Given the description of an element on the screen output the (x, y) to click on. 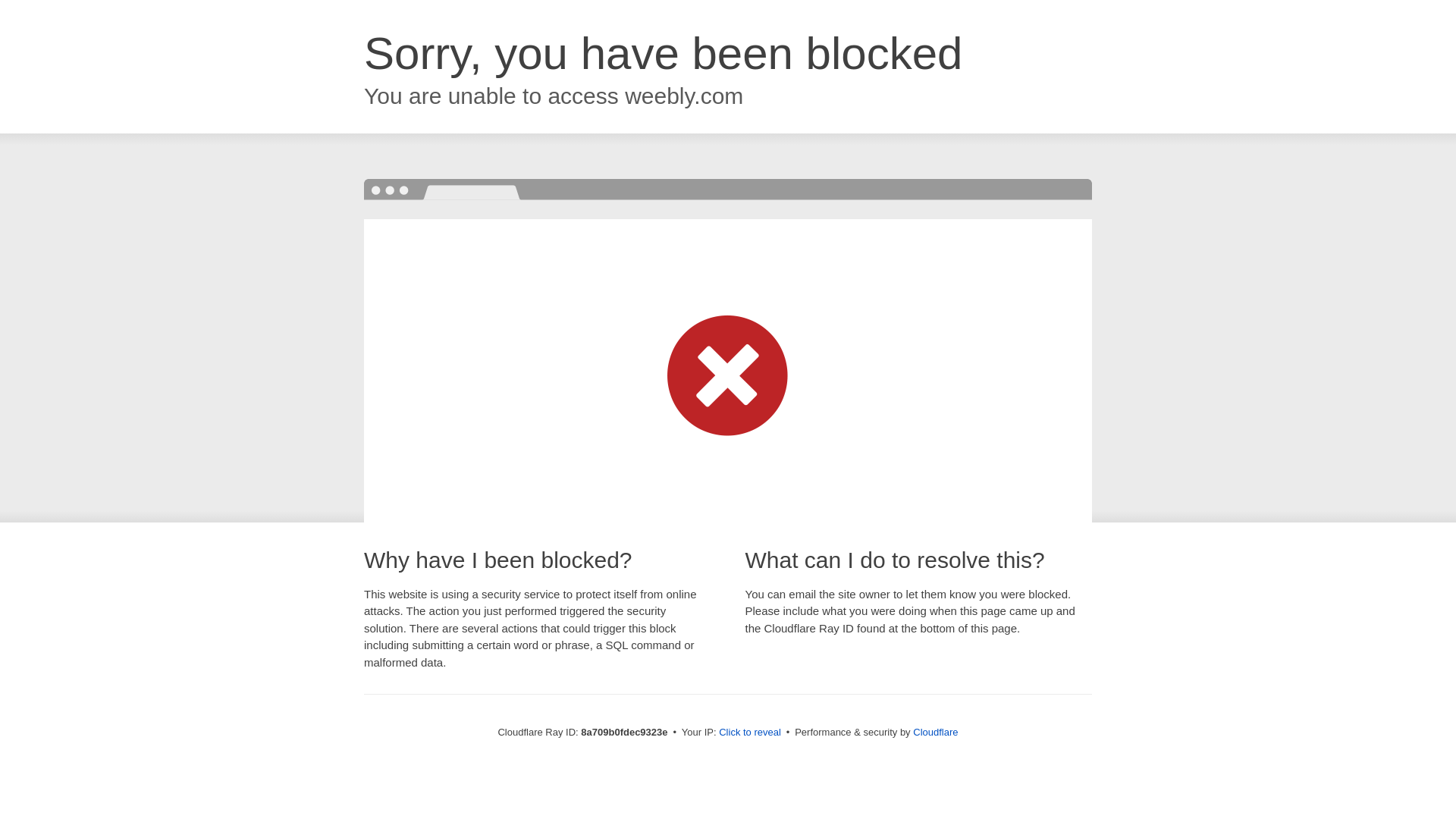
Cloudflare (935, 731)
Click to reveal (749, 732)
